Given the description of an element on the screen output the (x, y) to click on. 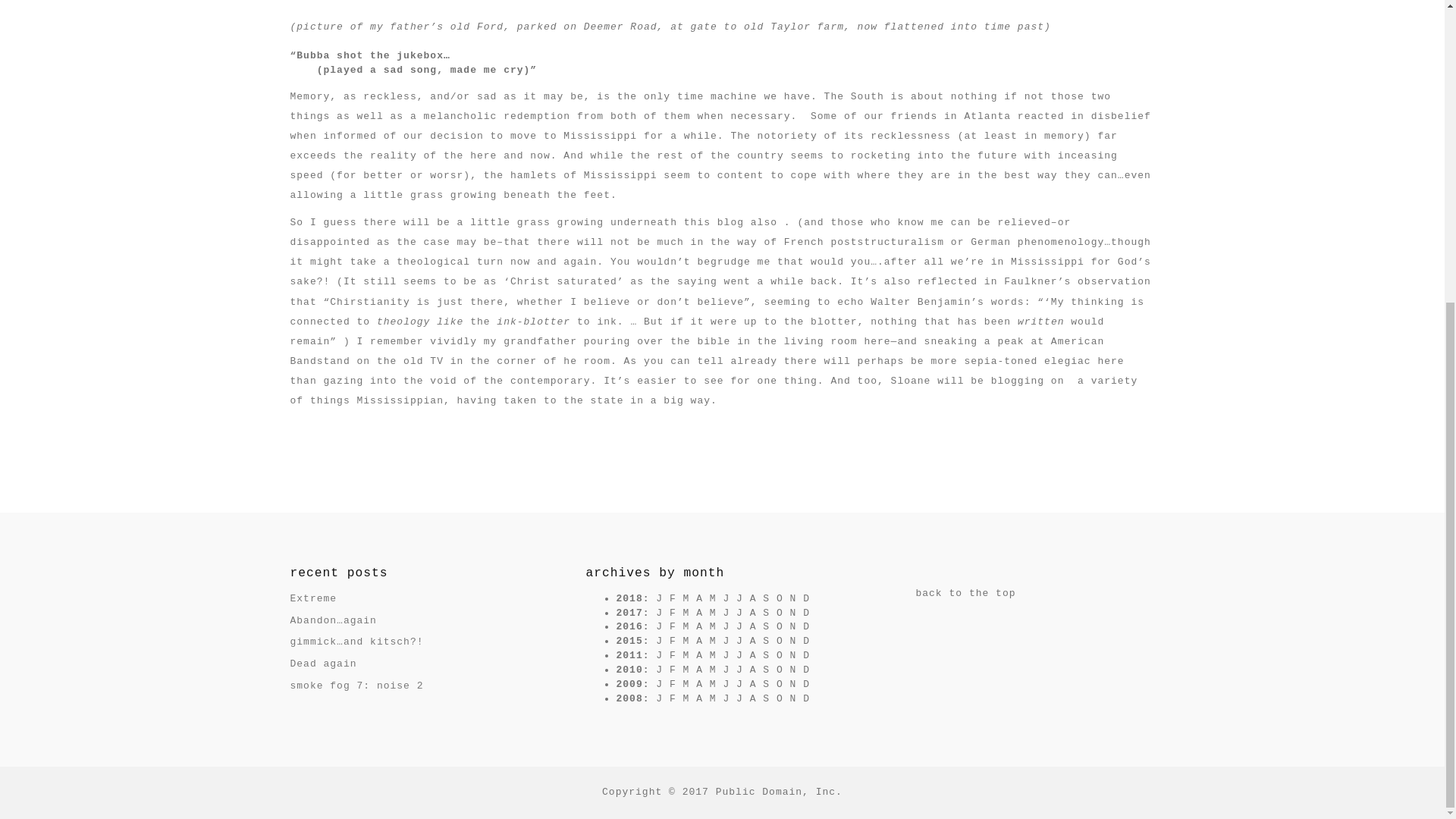
smoke fog 7: noise 2 (356, 685)
2016 (628, 626)
2017 (628, 613)
2018 (628, 598)
Extreme (312, 598)
Dead again (322, 663)
